Given the description of an element on the screen output the (x, y) to click on. 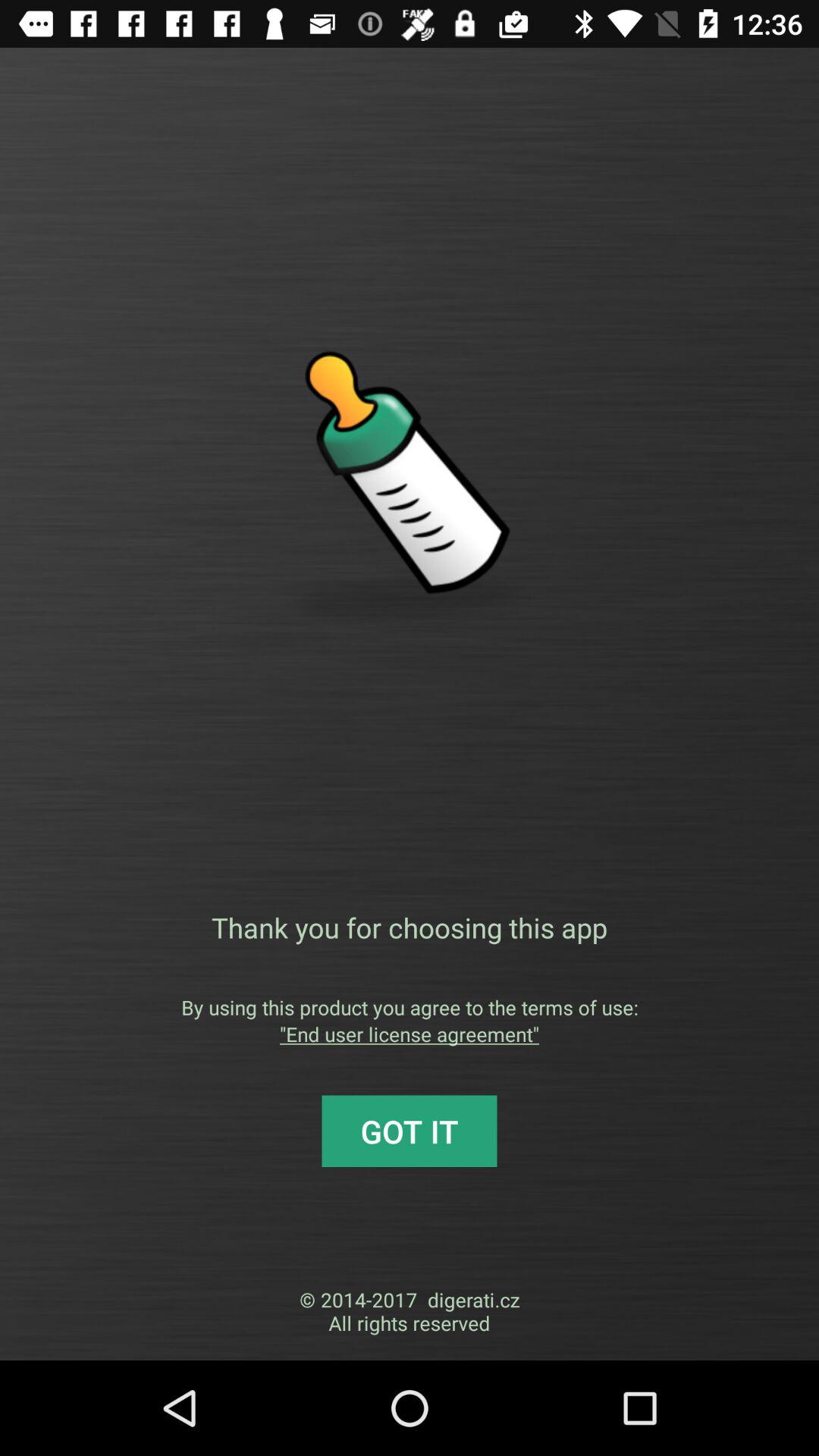
scroll to 2014 2017 digerati icon (409, 1311)
